Given the description of an element on the screen output the (x, y) to click on. 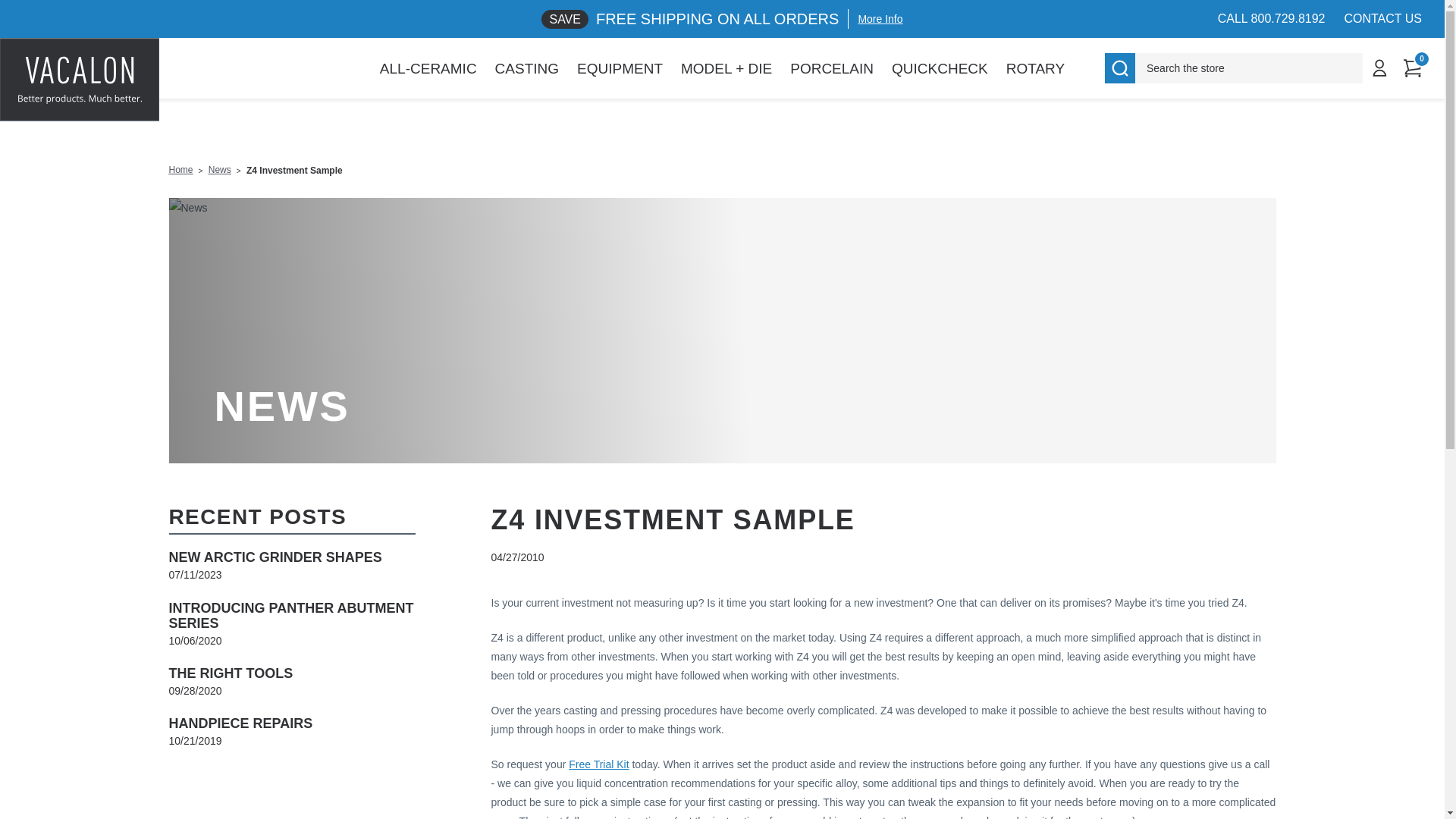
QUICKCHECK (939, 68)
PORCELAIN (831, 68)
ALL-CERAMIC (428, 68)
ROTARY (1035, 68)
CASTING (526, 68)
More Info (874, 18)
CONTACT US (1382, 18)
EQUIPMENT (619, 68)
Search (1120, 68)
CALL 800.729.8192 (1270, 18)
